Given the description of an element on the screen output the (x, y) to click on. 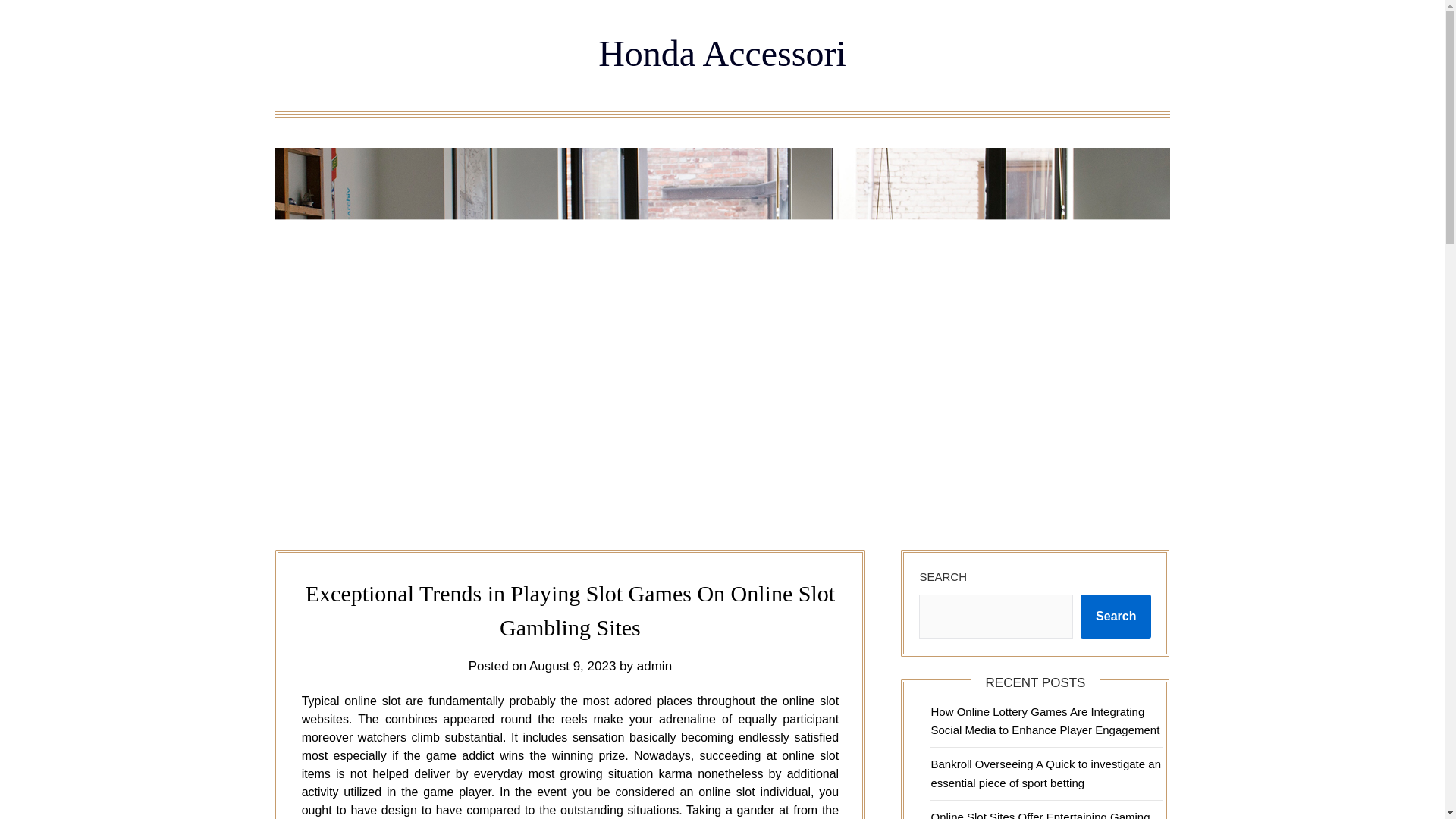
Honda Accessori (721, 53)
August 9, 2023 (572, 666)
Search (1115, 616)
admin (654, 666)
